Given the description of an element on the screen output the (x, y) to click on. 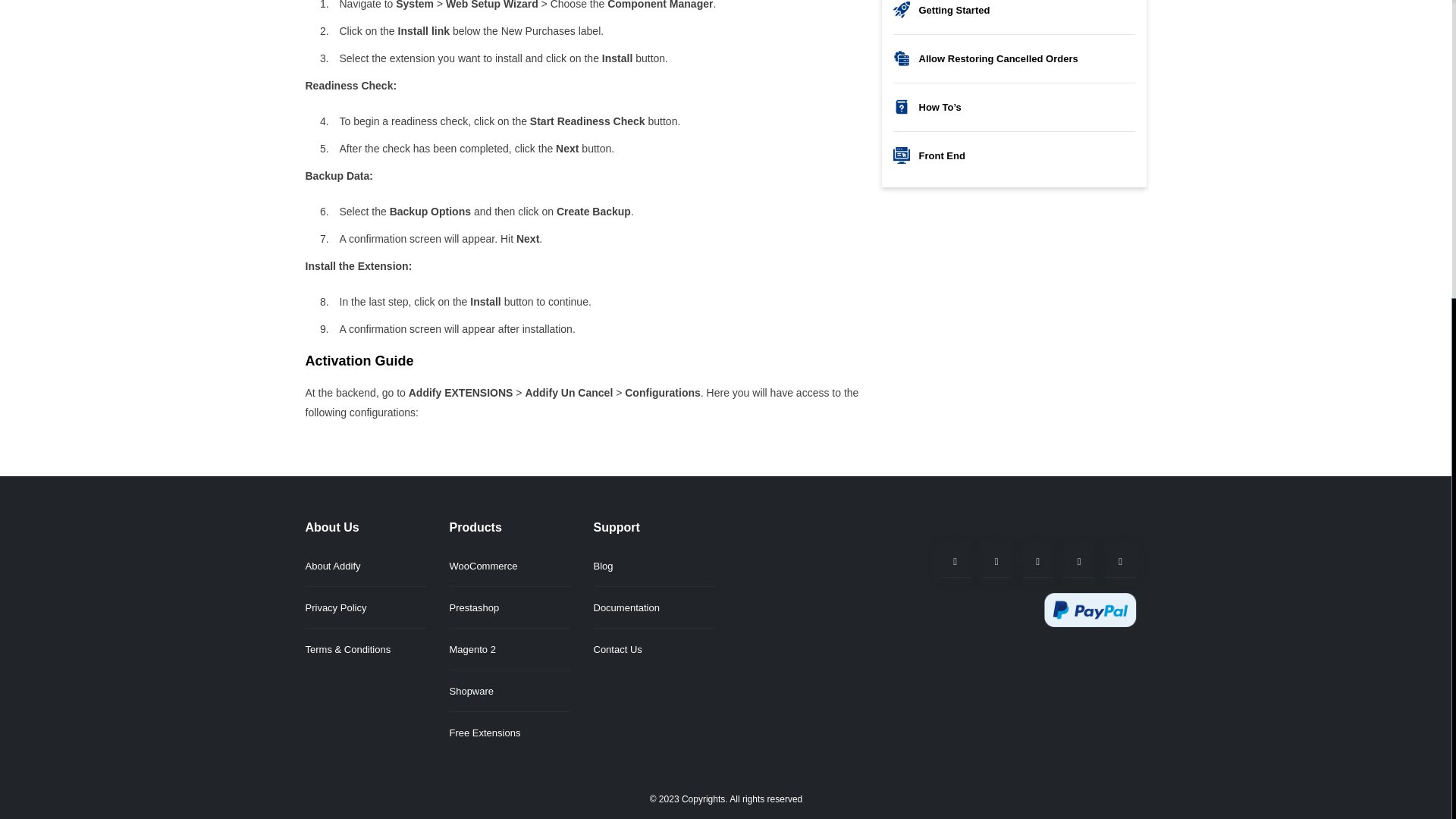
Blog (602, 565)
Shopware (470, 690)
Front End (1014, 155)
About Addify (331, 565)
Contact Us (617, 649)
Free Extensions (483, 732)
Documentation (625, 607)
Prestashop (473, 607)
WooCommerce (482, 565)
Magento 2 (471, 649)
Allow Restoring Cancelled Orders (1014, 58)
Getting Started (1014, 9)
Privacy Policy (335, 607)
